Given the description of an element on the screen output the (x, y) to click on. 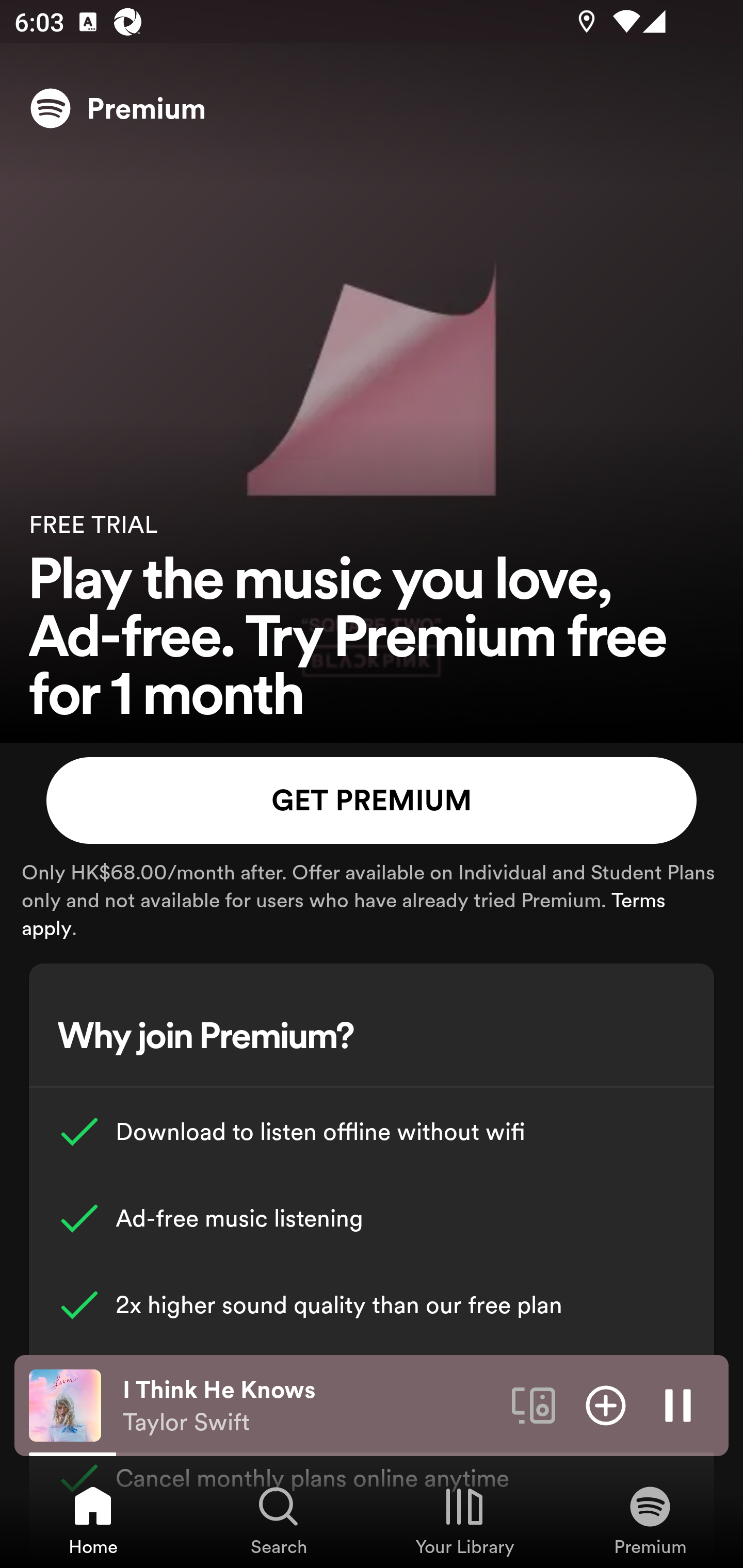
GET PREMIUM (371, 800)
I Think He Knows Taylor Swift (309, 1405)
The cover art of the currently playing track (64, 1404)
Connect to a device. Opens the devices menu (533, 1404)
Add item (605, 1404)
Pause (677, 1404)
Home, Tab 1 of 4 Home Home (92, 1519)
Search, Tab 2 of 4 Search Search (278, 1519)
Your Library, Tab 3 of 4 Your Library Your Library (464, 1519)
Premium, Tab 4 of 4 Premium Premium (650, 1519)
